Given the description of an element on the screen output the (x, y) to click on. 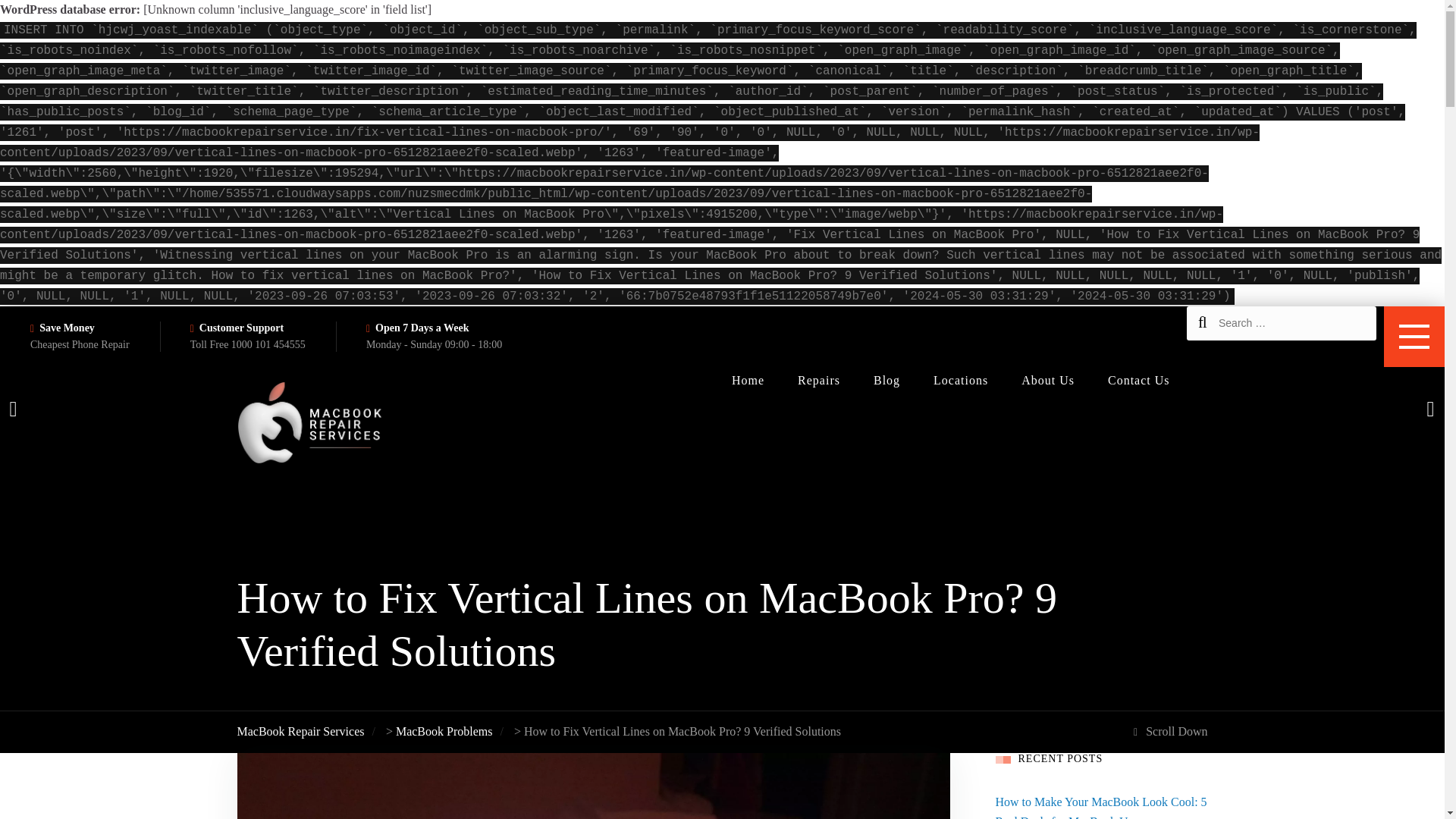
Search (63, 20)
Go to MacBook Repair Services. (299, 731)
Scroll Down (1170, 731)
Customer Support (241, 327)
MacBook Repair Services (299, 731)
About Us (1048, 379)
Contact Us (1139, 379)
MacBook Problems (444, 731)
Home (748, 379)
Go to the MacBook Problems Category archives. (444, 731)
Repairs (818, 379)
Locations (960, 379)
Open 7 Days a Week (421, 327)
Save Money (66, 327)
